Given the description of an element on the screen output the (x, y) to click on. 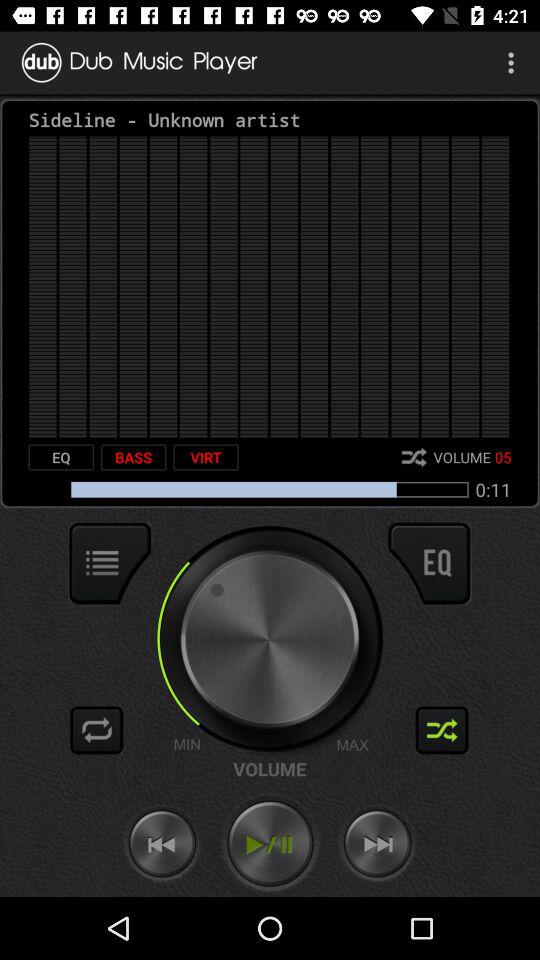
shuffle (442, 730)
